Given the description of an element on the screen output the (x, y) to click on. 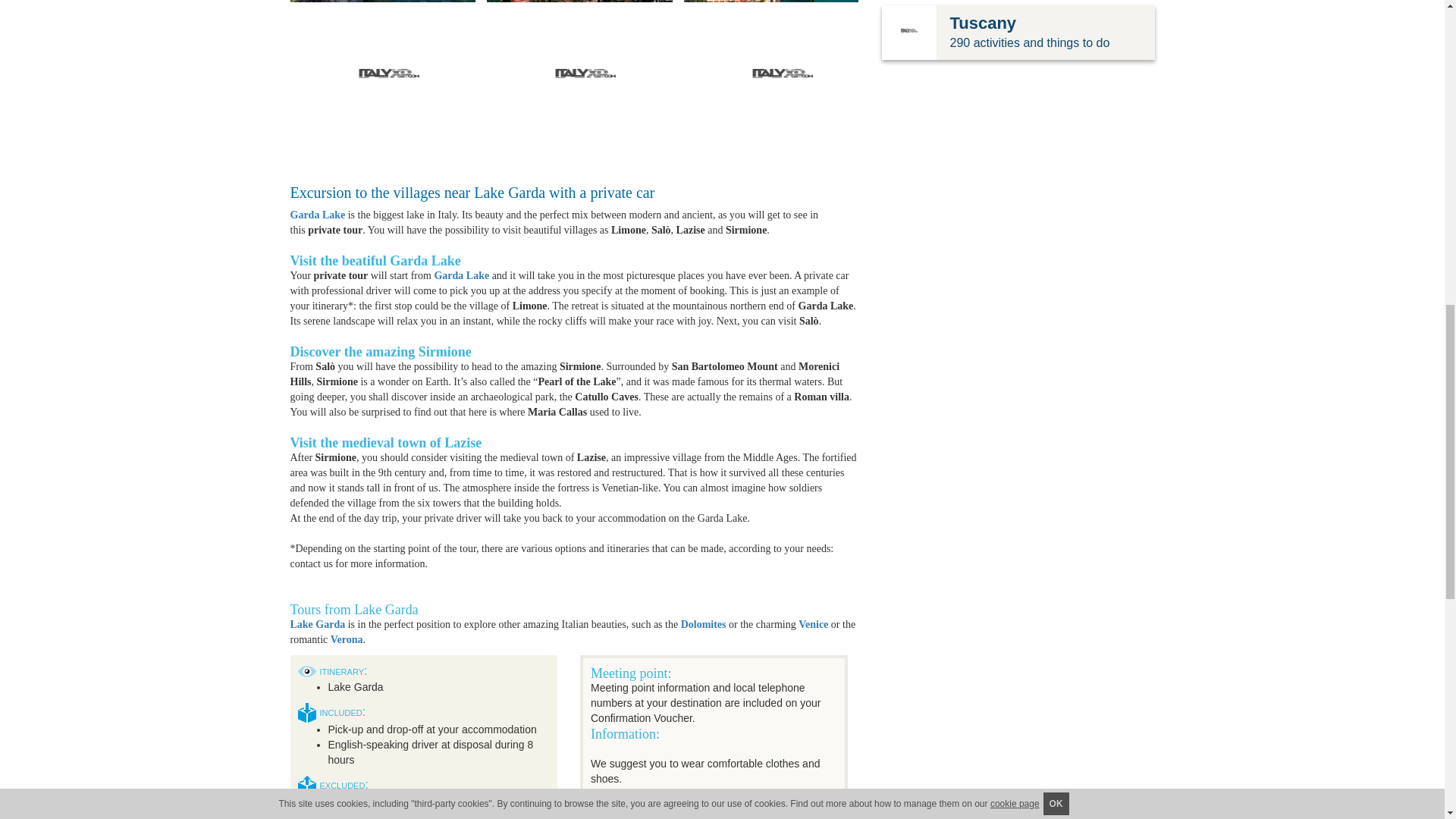
Panorama on the Lake Garda (585, 1)
Castle of Sirmione (387, 1)
Lake Garda (317, 624)
Best tours and activities for Tuscany (909, 31)
Ancient ruins of Sirmione (585, 77)
Limone on Garda Lake (782, 1)
Dolomites (703, 624)
Castello Scaligero of Sirmione (782, 77)
Garda Lake (461, 275)
Roman ruins in Sirmione (387, 77)
Garda Lake (317, 214)
Venice (812, 624)
